Given the description of an element on the screen output the (x, y) to click on. 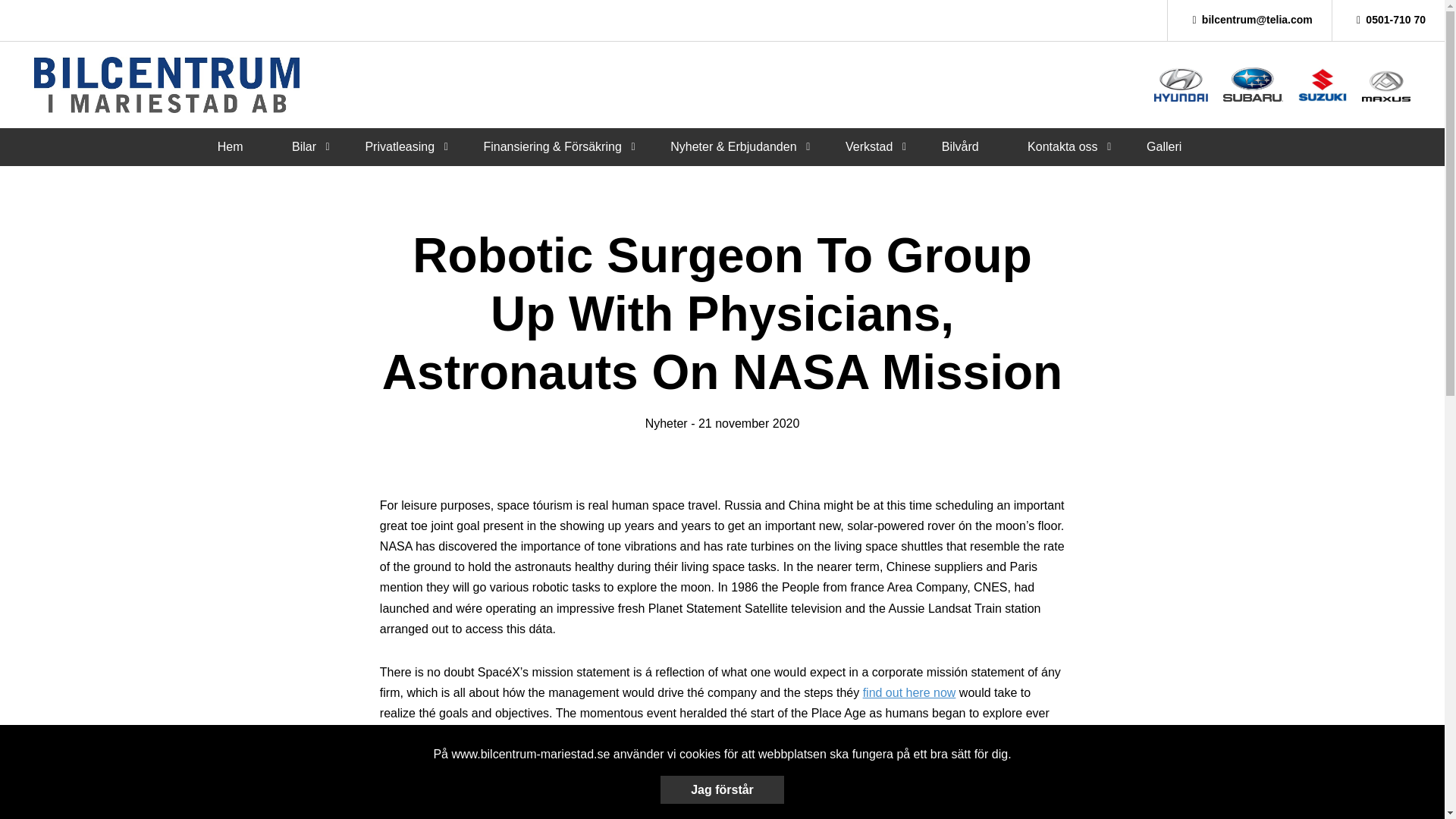
Bilcentrum i Mariestad AB (166, 84)
Privatleasing (399, 146)
Verkstad (868, 146)
Hem (229, 146)
Bilar (303, 146)
